Given the description of an element on the screen output the (x, y) to click on. 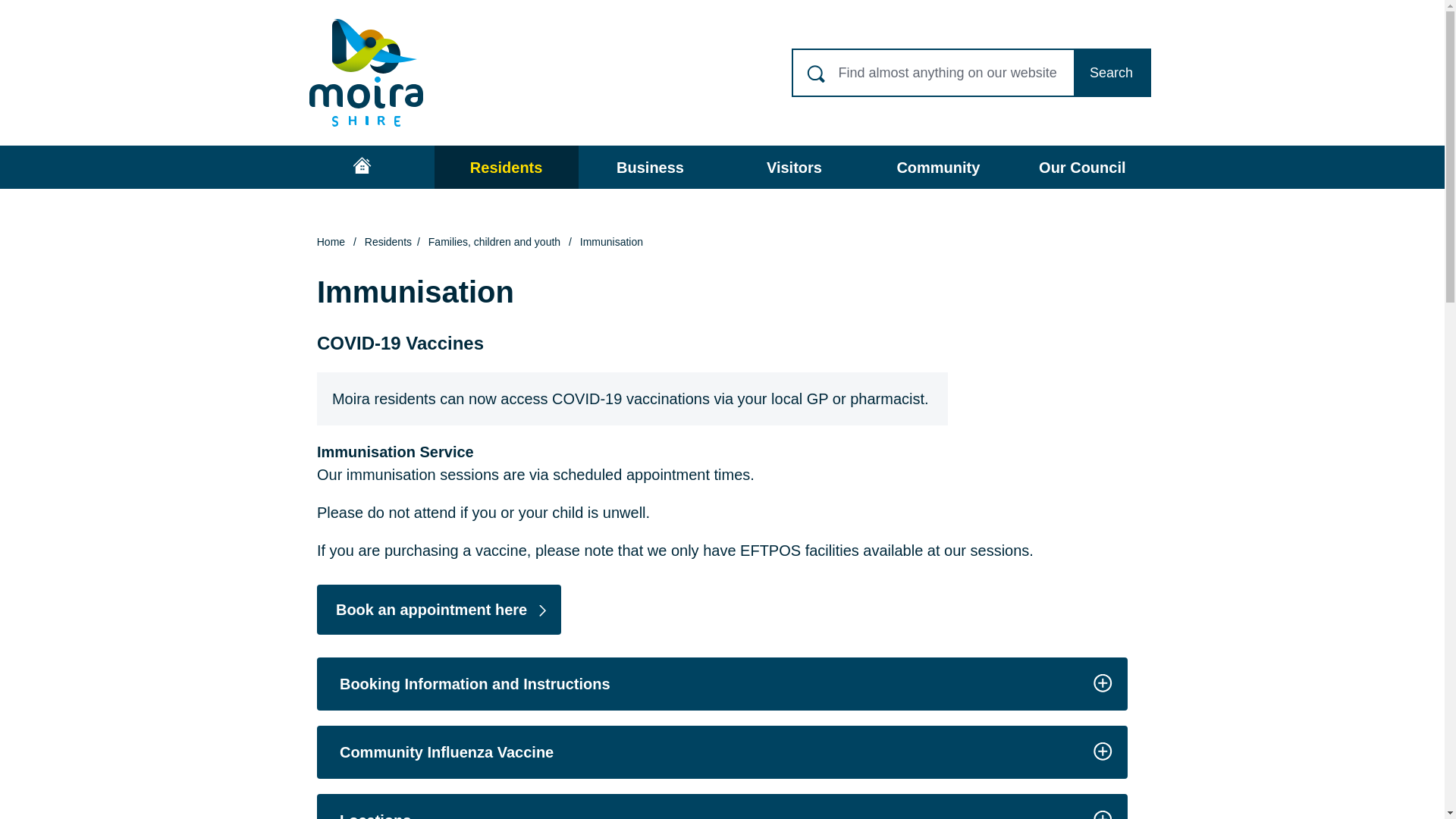
Moira Shire Council - Home - Logo (365, 72)
Search (1112, 72)
Sub-menu (555, 167)
Search (1112, 72)
Search (1112, 72)
Home (361, 167)
Residents (505, 167)
